Given the description of an element on the screen output the (x, y) to click on. 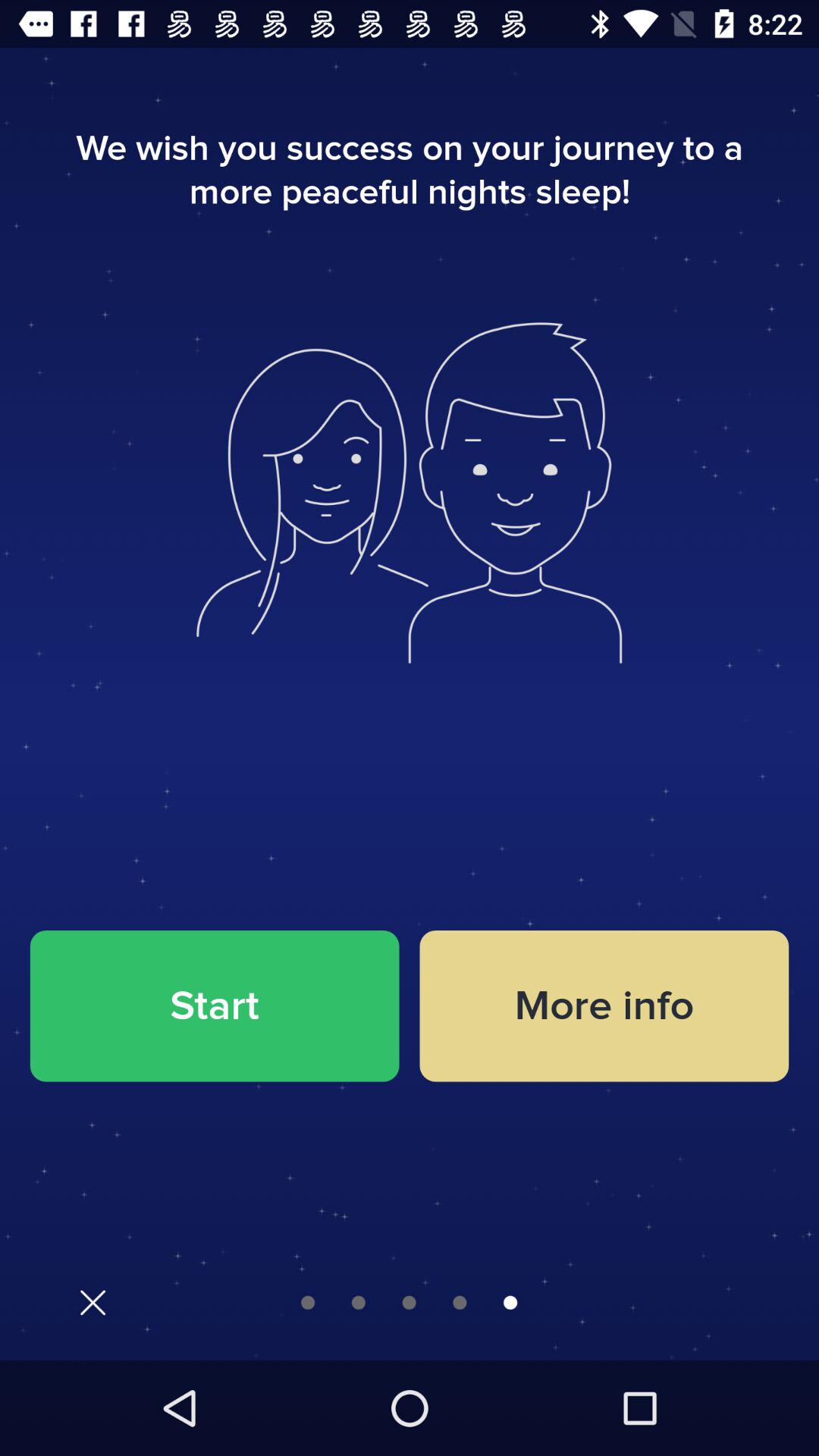
close button (92, 1302)
